Given the description of an element on the screen output the (x, y) to click on. 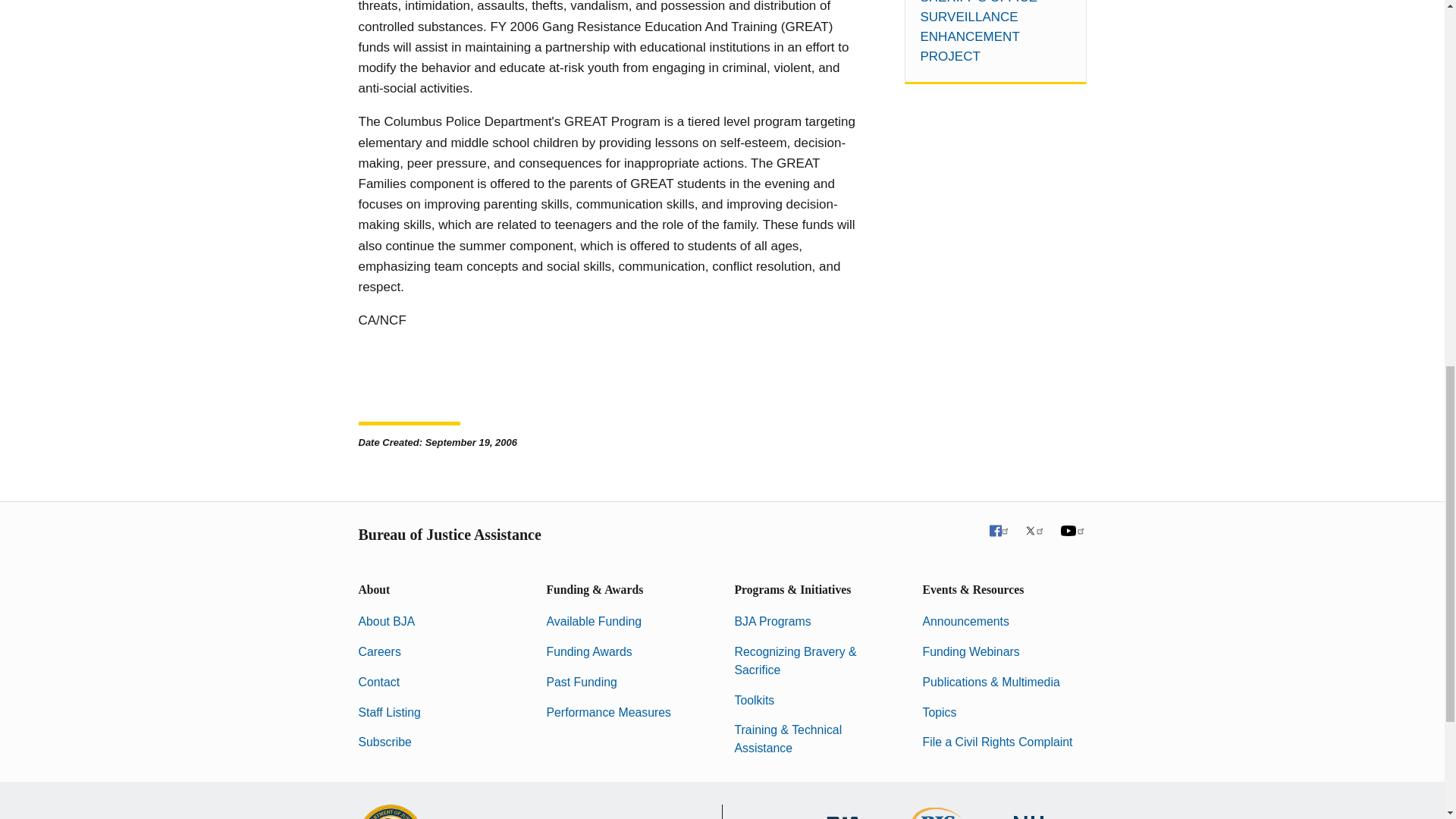
Staff Listing (389, 712)
Subscribe (384, 741)
Careers (379, 651)
Contact (378, 681)
About BJA (386, 621)
Available Funding (594, 621)
